Given the description of an element on the screen output the (x, y) to click on. 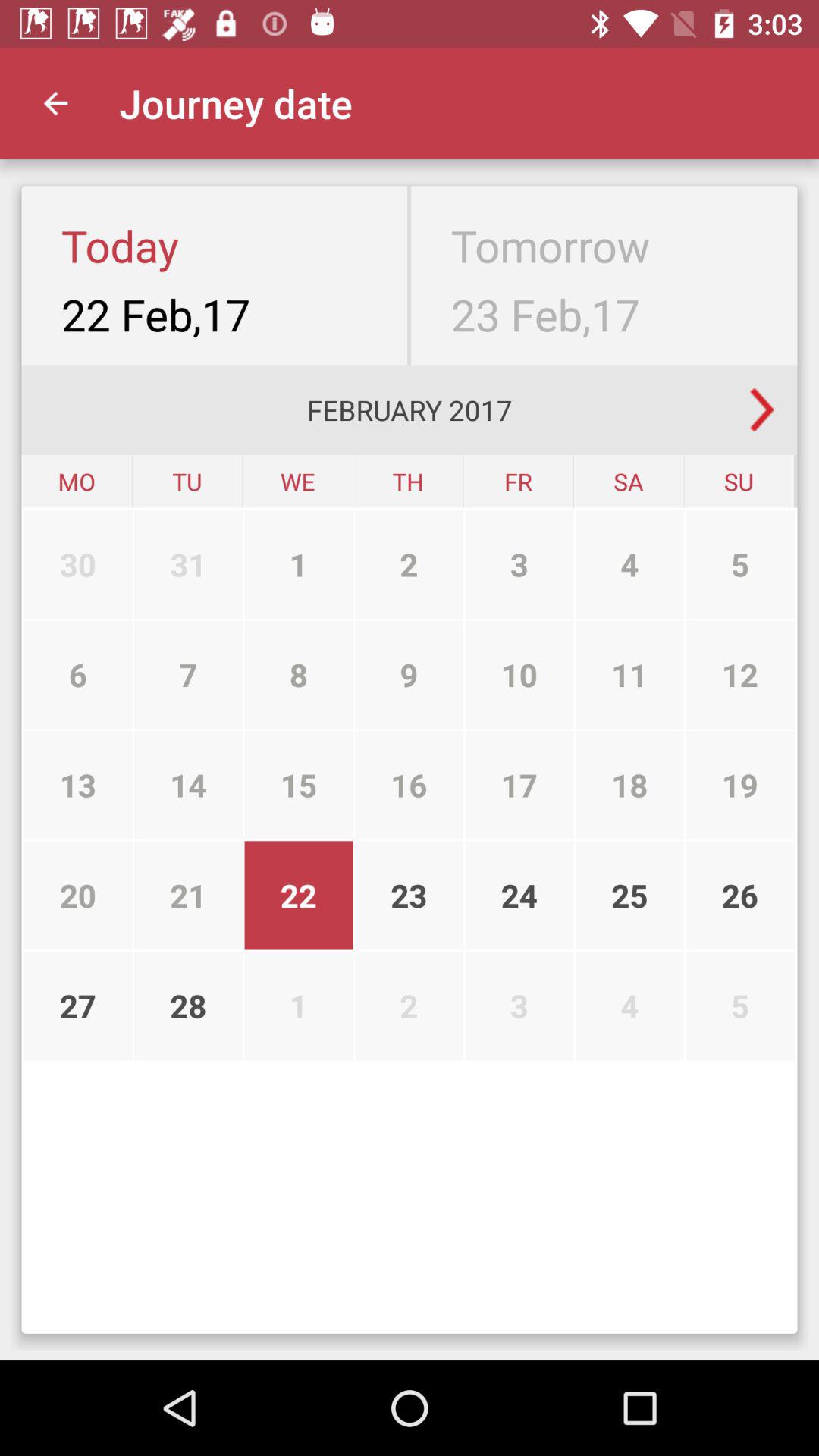
select the item above the 16 icon (519, 674)
